Given the description of an element on the screen output the (x, y) to click on. 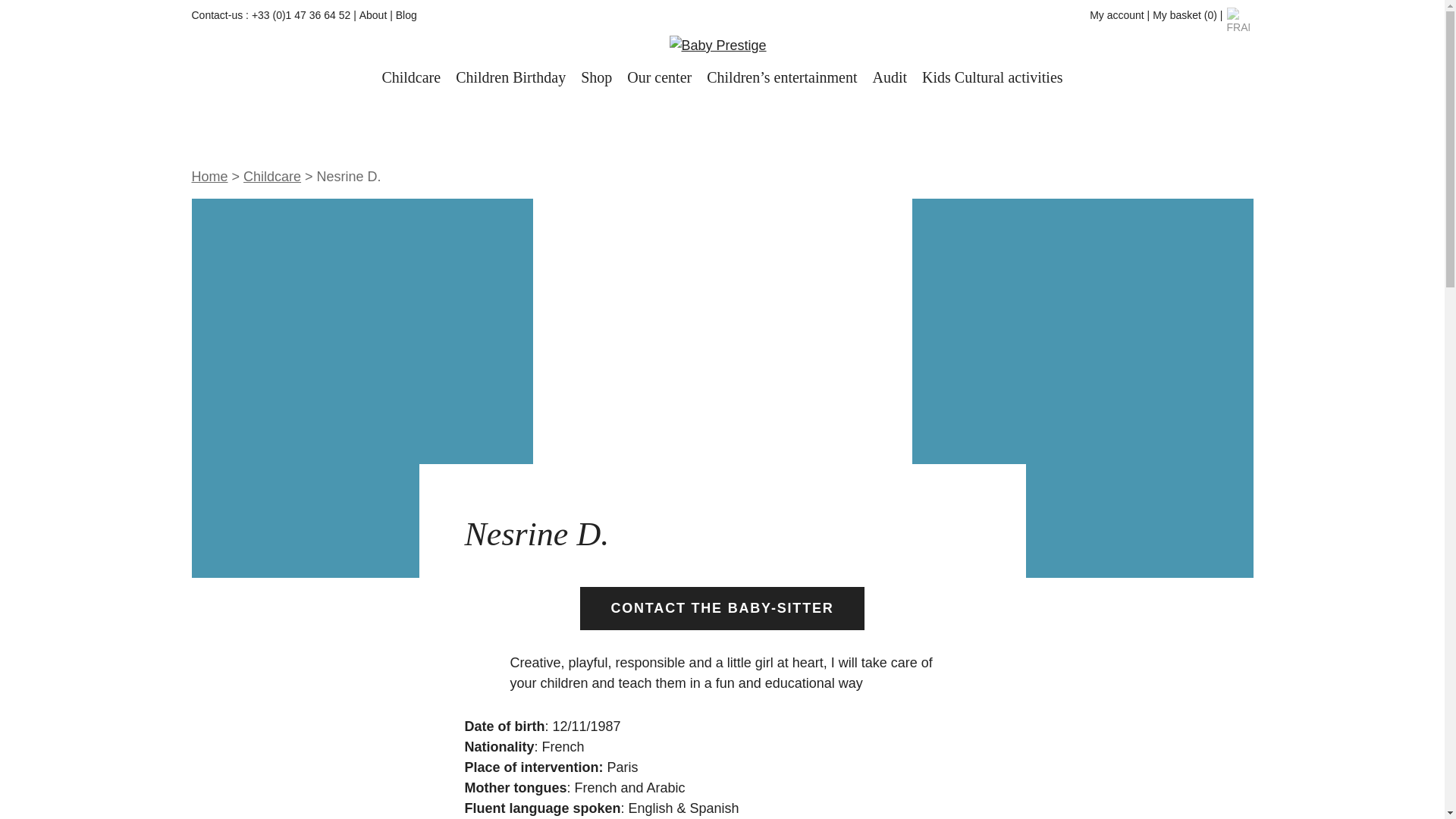
My account (1116, 15)
Children Birthday (510, 78)
Kids Cultural activities (991, 78)
Childcare (272, 176)
Childcare (411, 78)
CONTACT THE BABY-SITTER (721, 608)
About (373, 15)
Our center (659, 78)
Blog (406, 15)
Home (208, 176)
